Given the description of an element on the screen output the (x, y) to click on. 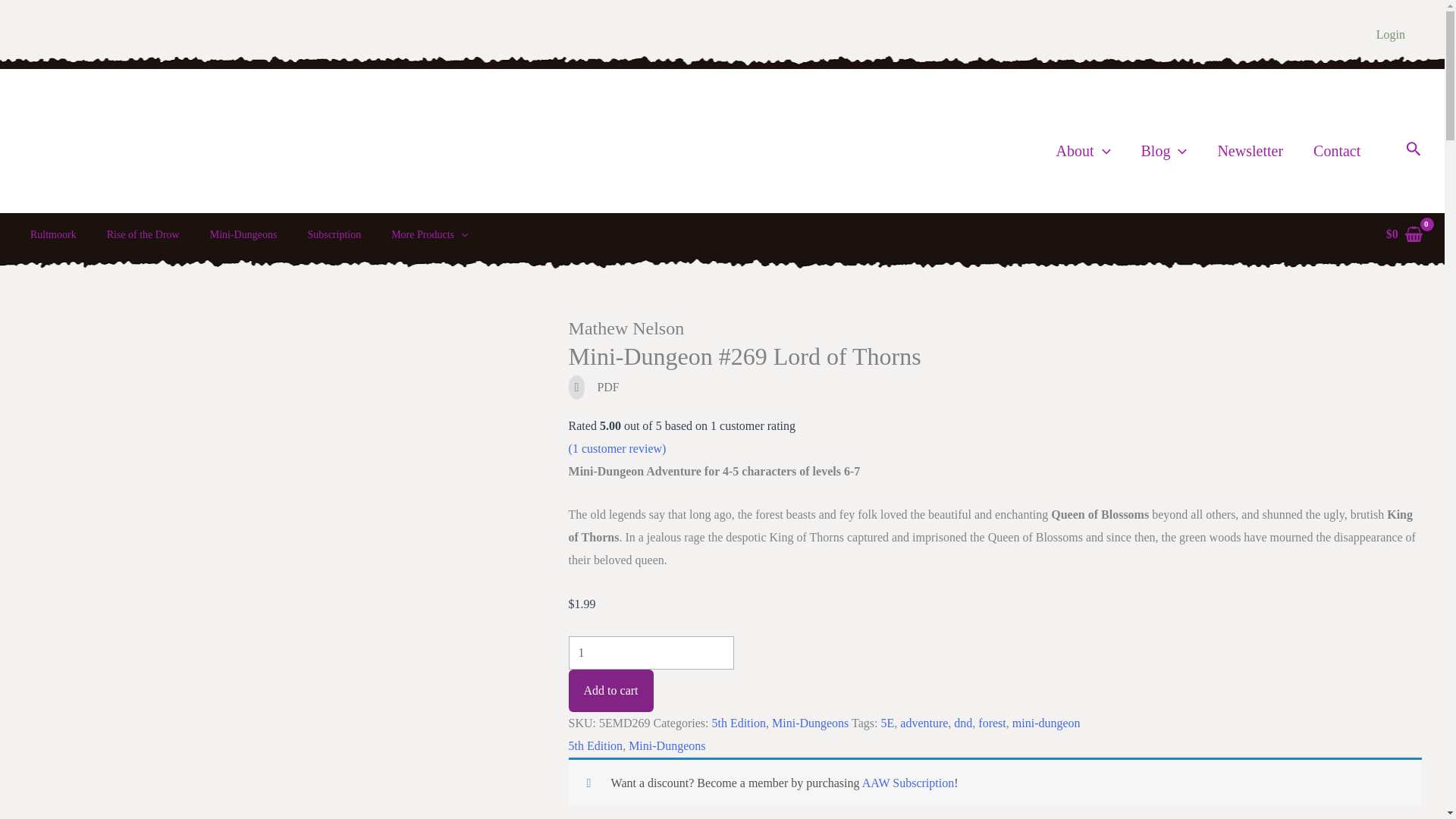
Blog (1163, 149)
More Products (429, 234)
Login (1390, 34)
Subscription (333, 234)
1 (651, 652)
About (1083, 149)
Newsletter (1250, 149)
Mini-Dungeons (243, 234)
Rise of the Drow (143, 234)
Contact (1336, 149)
Rultmoork (52, 234)
